Given the description of an element on the screen output the (x, y) to click on. 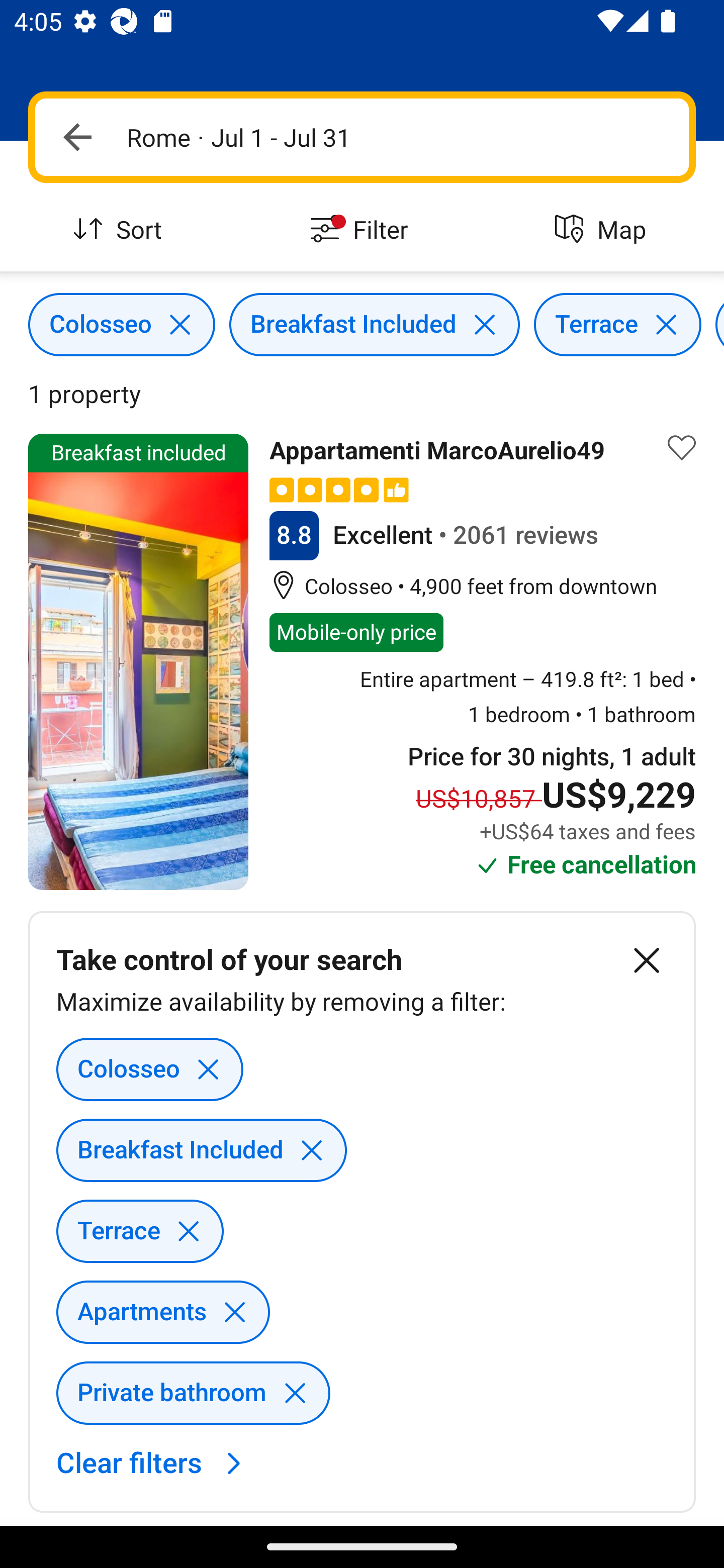
Navigate up Rome · Jul 1 - Jul 31 (362, 136)
Navigate up (77, 136)
Sort (120, 230)
Filter (361, 230)
Map (603, 230)
Save property to list (681, 447)
Close this section (646, 959)
Clear filters (153, 1462)
